Given the description of an element on the screen output the (x, y) to click on. 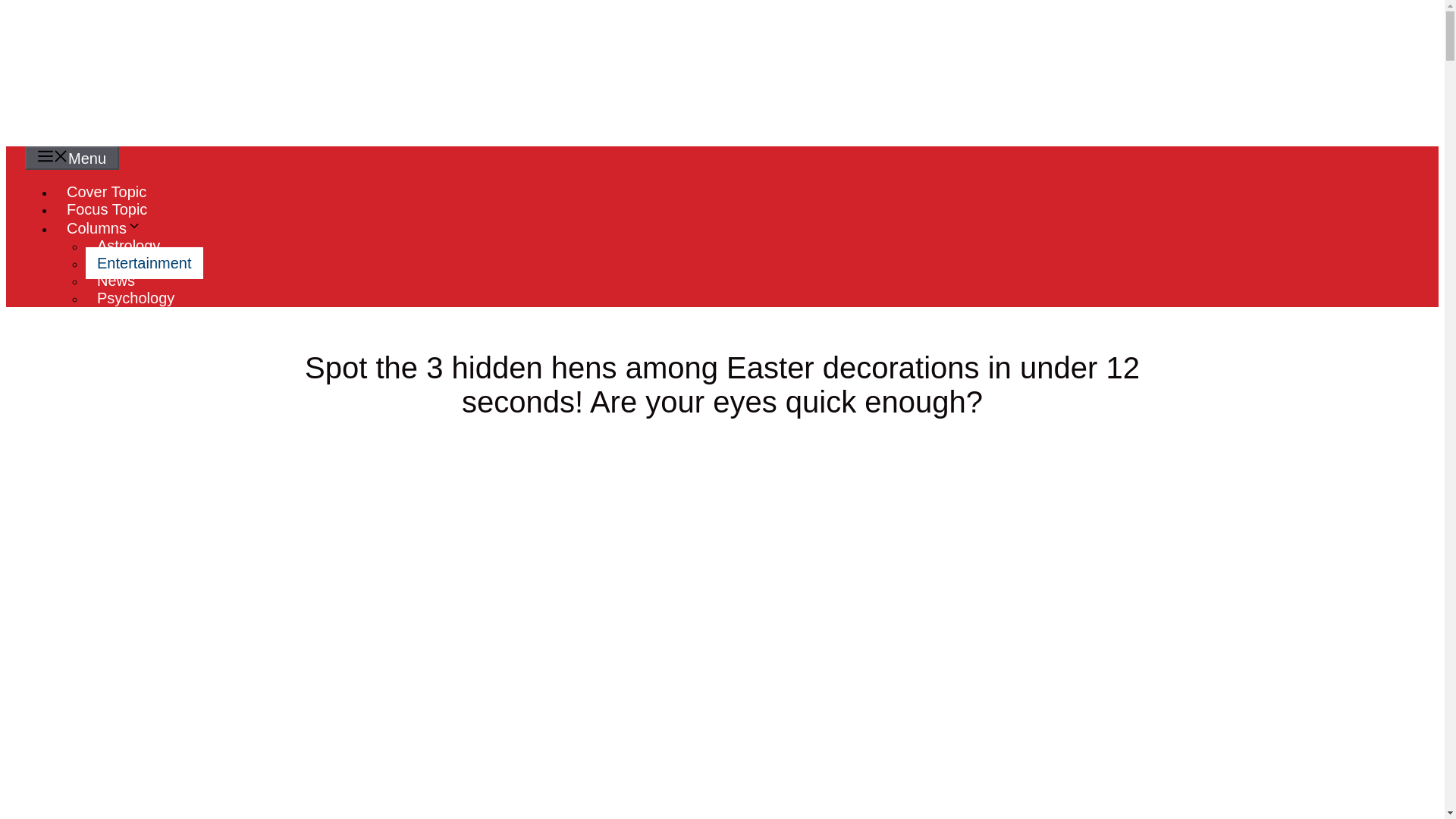
Focus Topic (106, 208)
Menu (71, 157)
Cover Topic (106, 191)
Columns (109, 228)
Psychology (135, 297)
Astrology (128, 245)
Entertainment (144, 263)
News (116, 280)
